Given the description of an element on the screen output the (x, y) to click on. 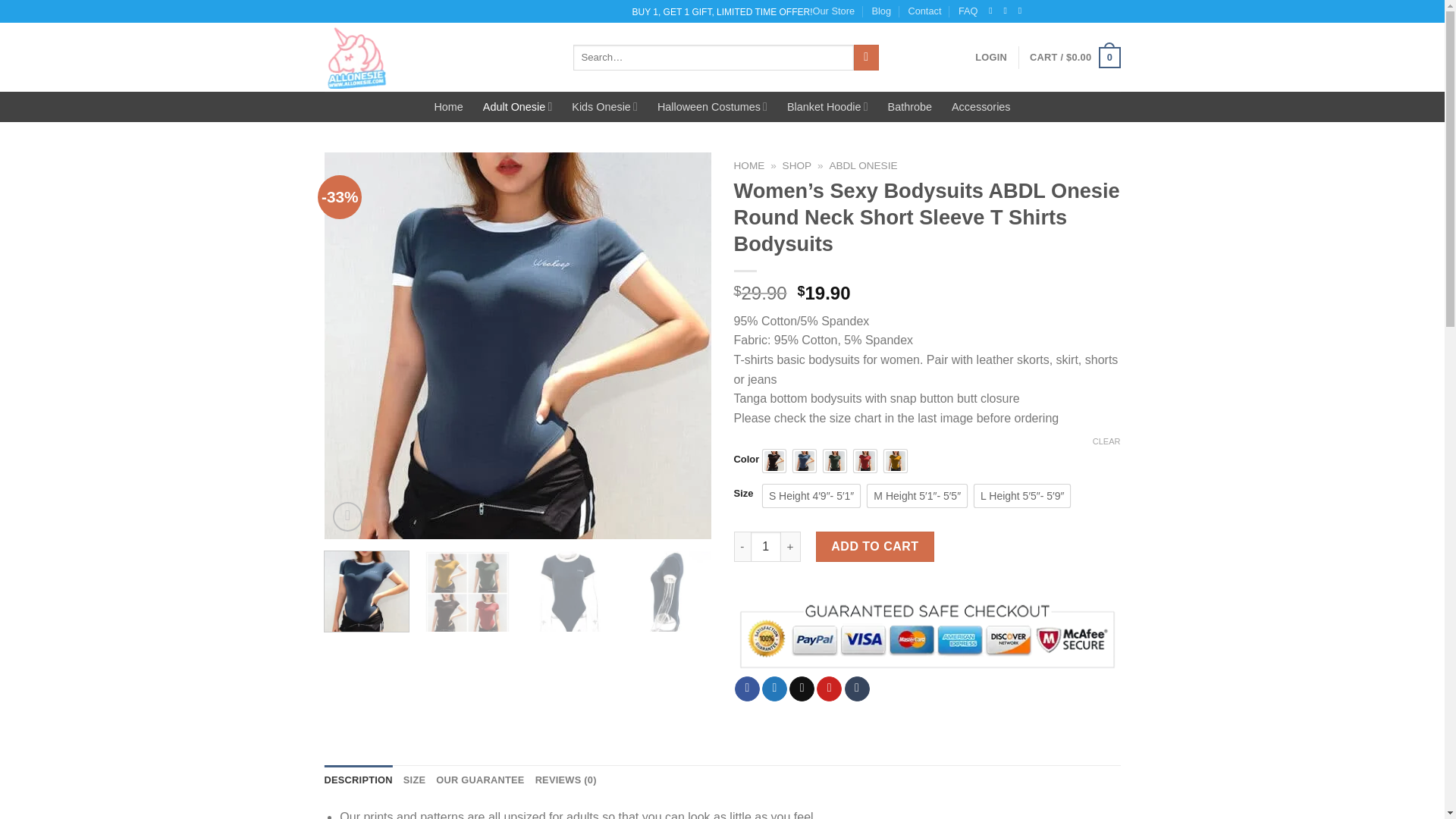
red (864, 460)
Contact (923, 11)
- (742, 546)
Halloween Costumes (712, 106)
Home (448, 106)
Kids Onesie (604, 106)
LOGIN (991, 57)
Cart (1074, 57)
yellow (895, 460)
Accessories (981, 106)
black (774, 460)
Follow on Instagram (1007, 9)
Blanket Hoodie (827, 106)
FAQ (968, 11)
Zoom (347, 516)
